Given the description of an element on the screen output the (x, y) to click on. 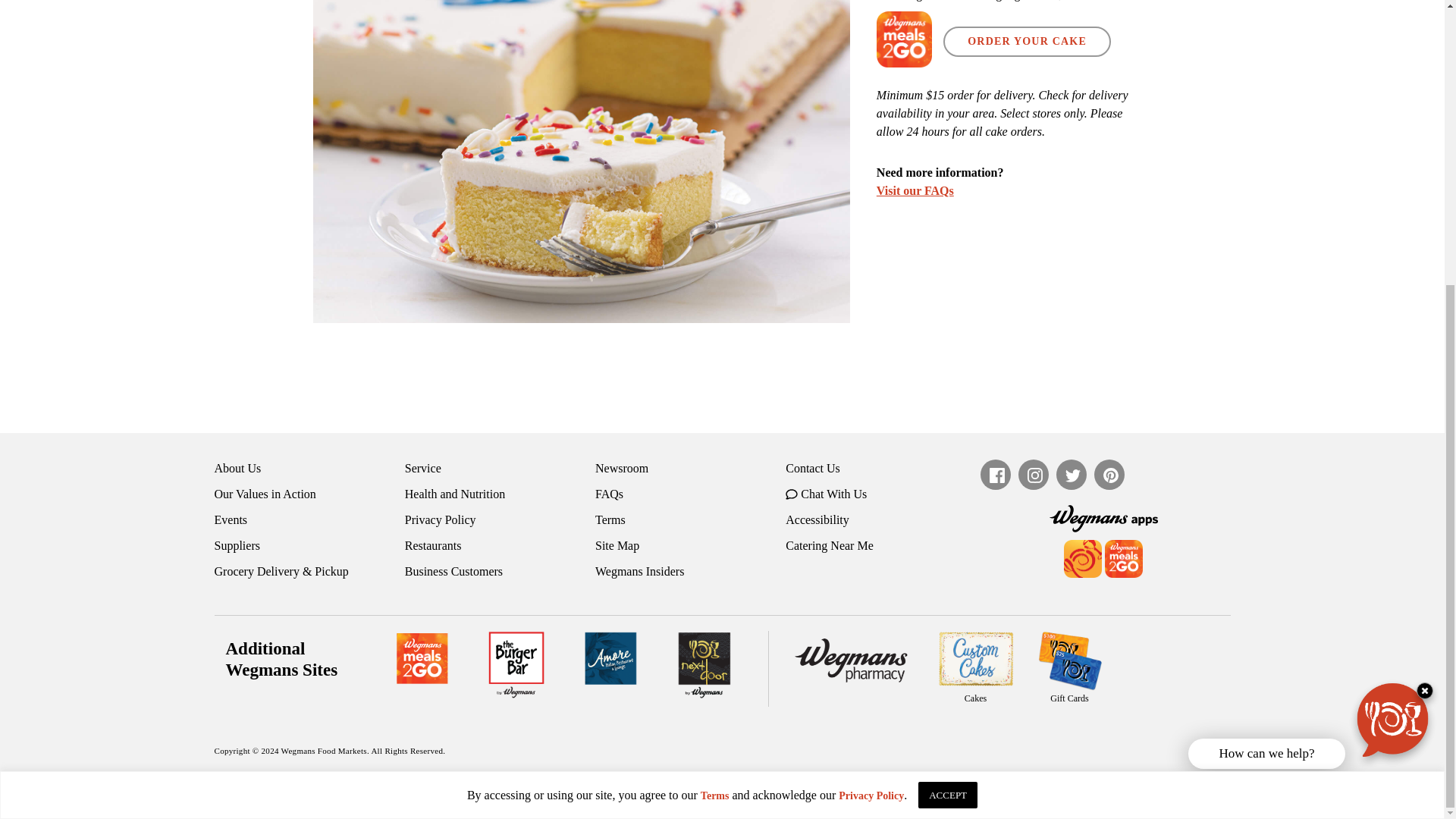
Terms (714, 365)
ACCEPT (947, 365)
Privacy Policy (871, 365)
